Given the description of an element on the screen output the (x, y) to click on. 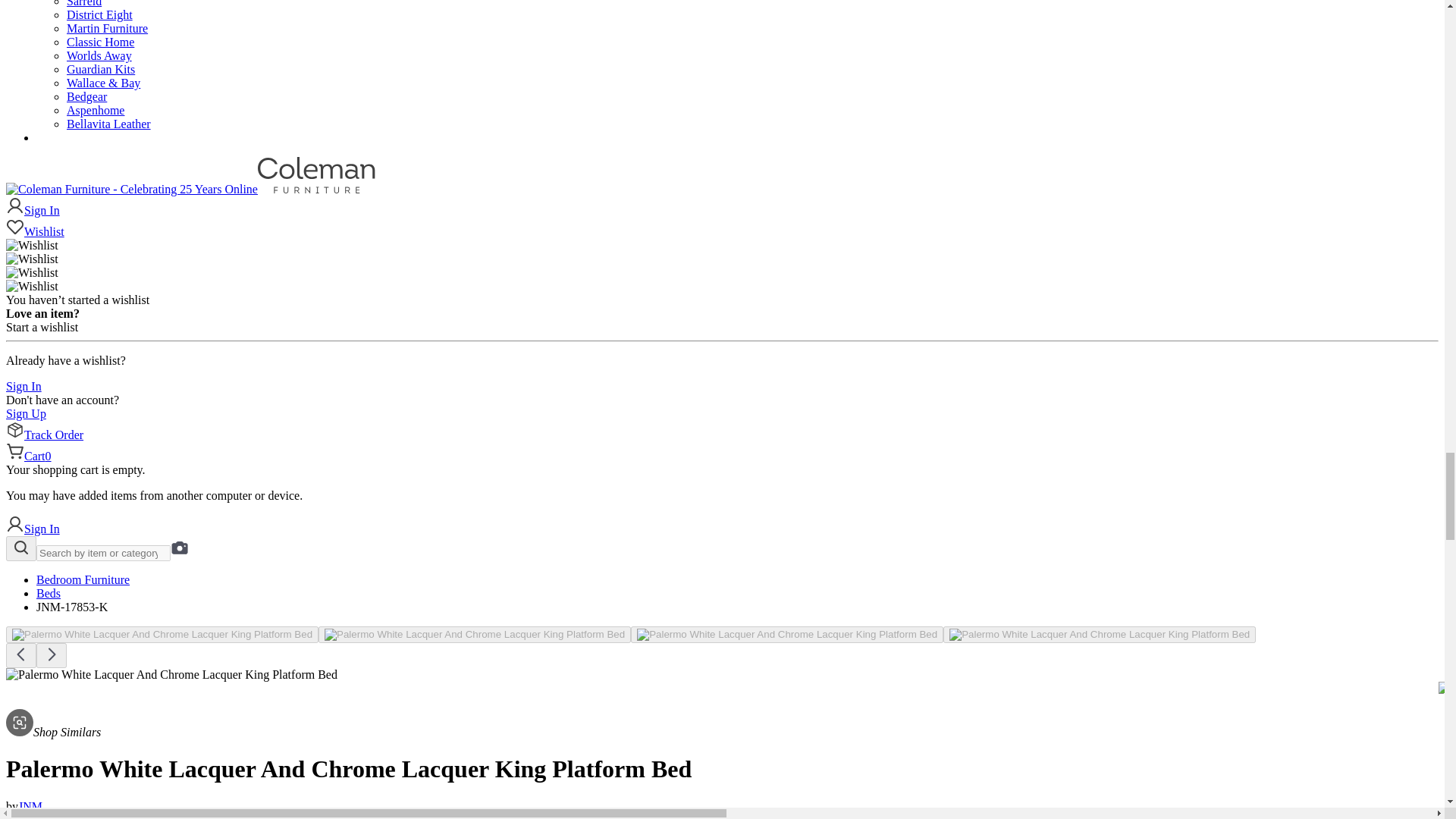
Coleman Furniture - Celebrating 25 Years Online (131, 189)
Shop Similar (52, 731)
wishlist (721, 228)
Search Button (20, 548)
